Given the description of an element on the screen output the (x, y) to click on. 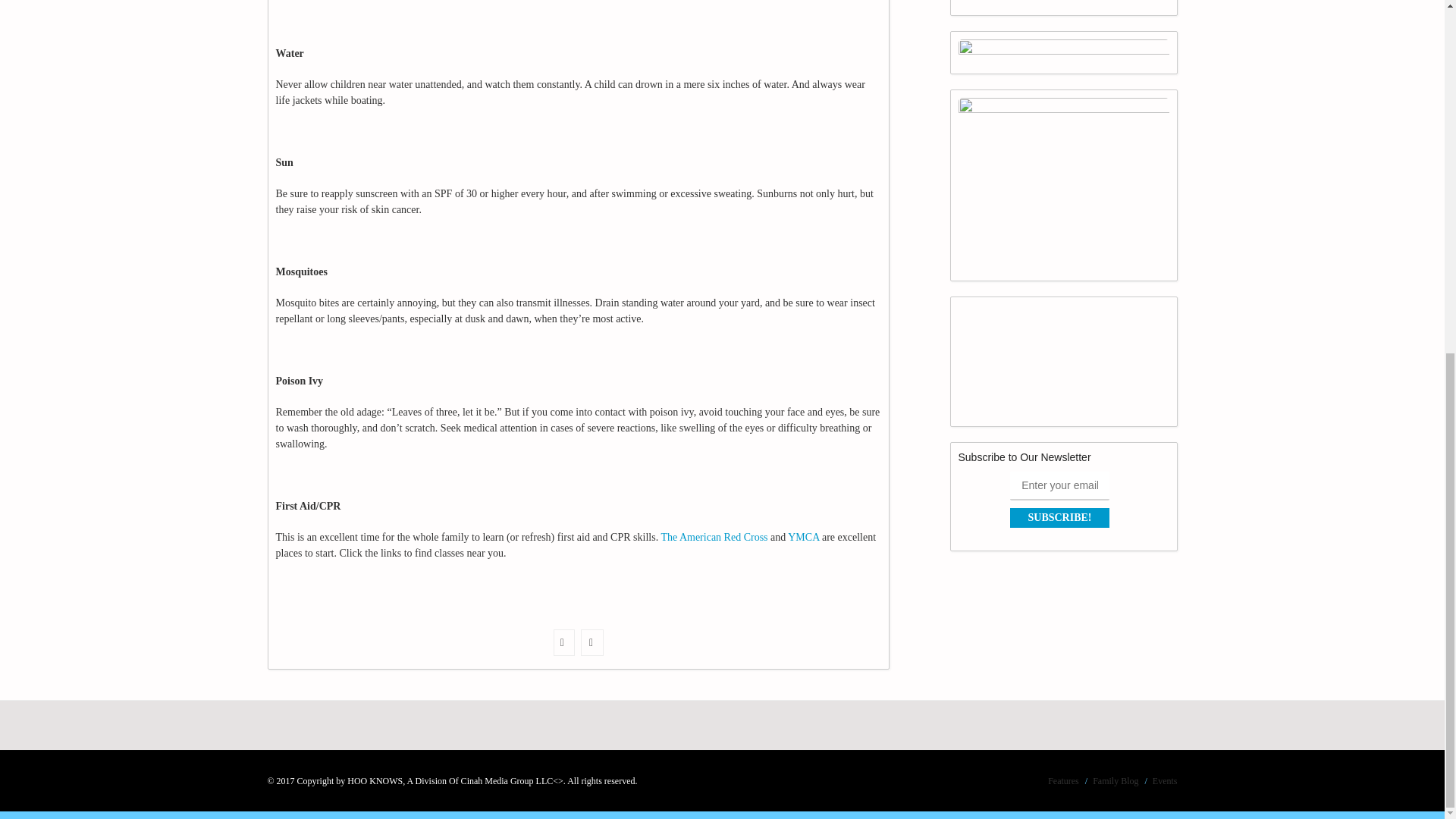
Subscribe! (1059, 517)
